Given the description of an element on the screen output the (x, y) to click on. 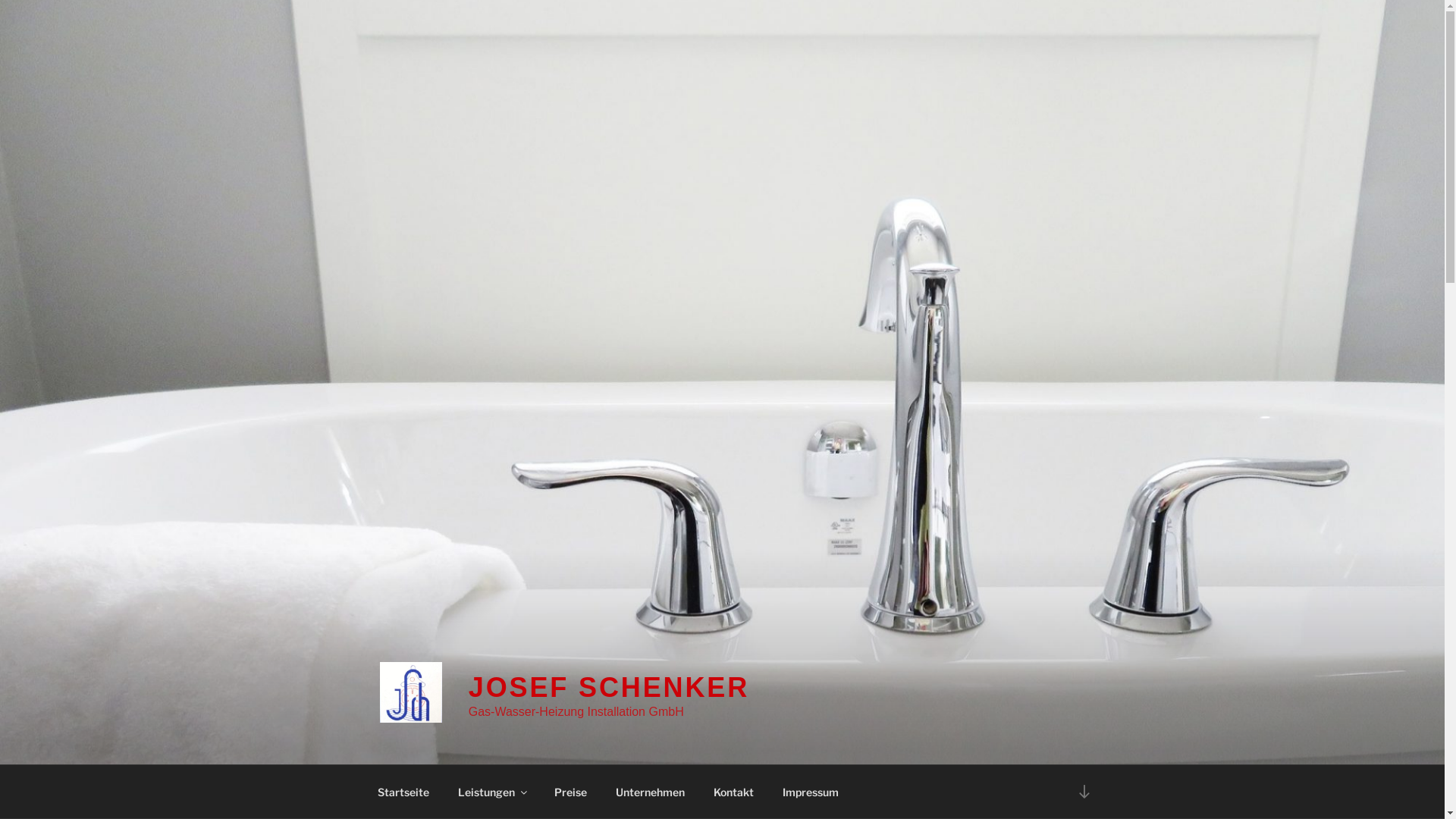
Leistungen Element type: text (491, 791)
JOSEF SCHENKER Element type: text (608, 686)
Zum Inhalt nach unten scrollen Element type: text (1083, 790)
Unternehmen Element type: text (649, 791)
Kontakt Element type: text (733, 791)
Preise Element type: text (570, 791)
Startseite Element type: text (403, 791)
Impressum Element type: text (809, 791)
